Given the description of an element on the screen output the (x, y) to click on. 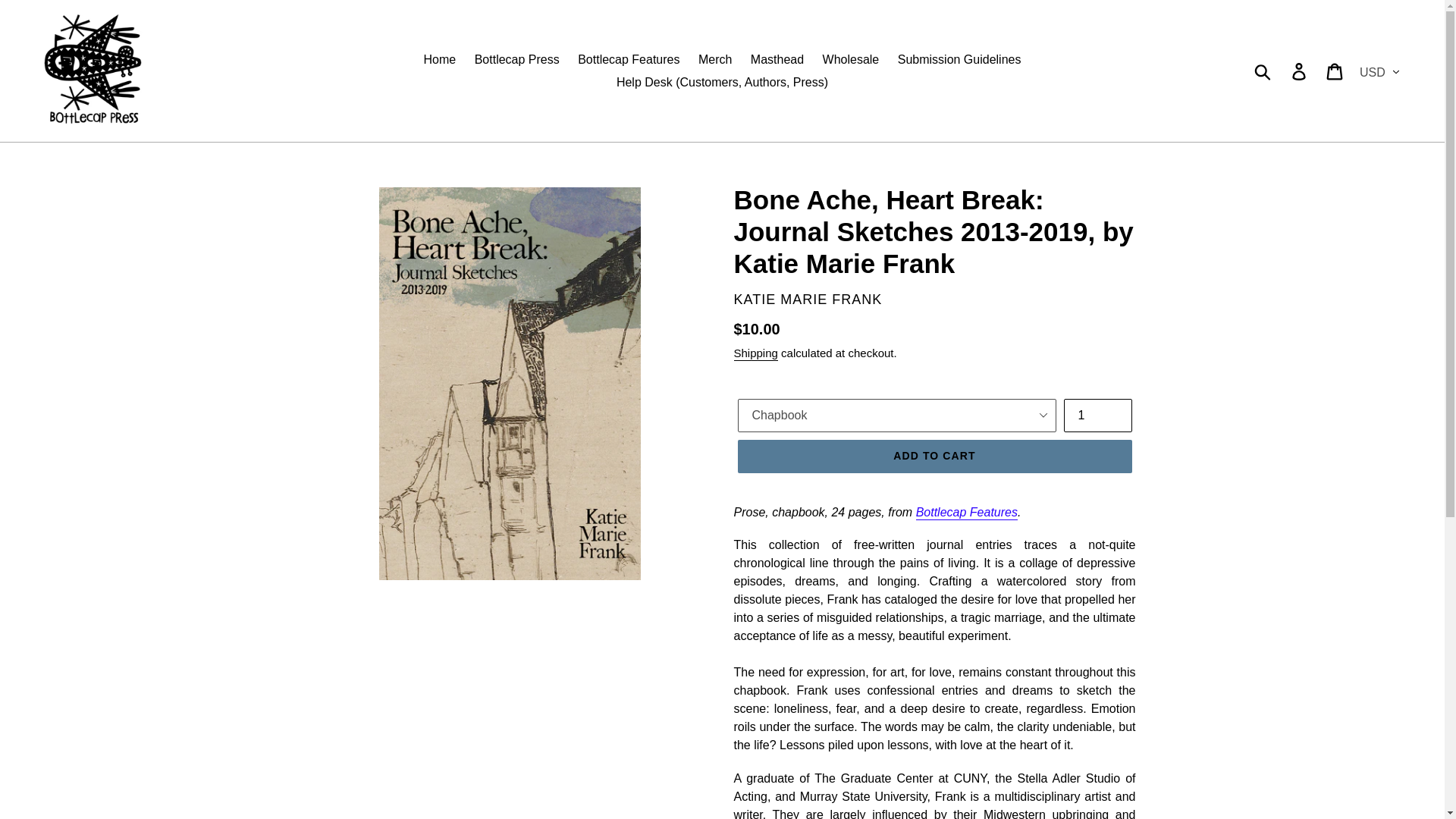
ADD TO CART (933, 456)
Cart (1335, 70)
Submit (1263, 70)
Home (440, 59)
Bottlecap Press (517, 59)
Merch (714, 59)
Bottlecap Features (966, 513)
Log in (1299, 70)
Wholesale (850, 59)
1 (1096, 415)
